Given the description of an element on the screen output the (x, y) to click on. 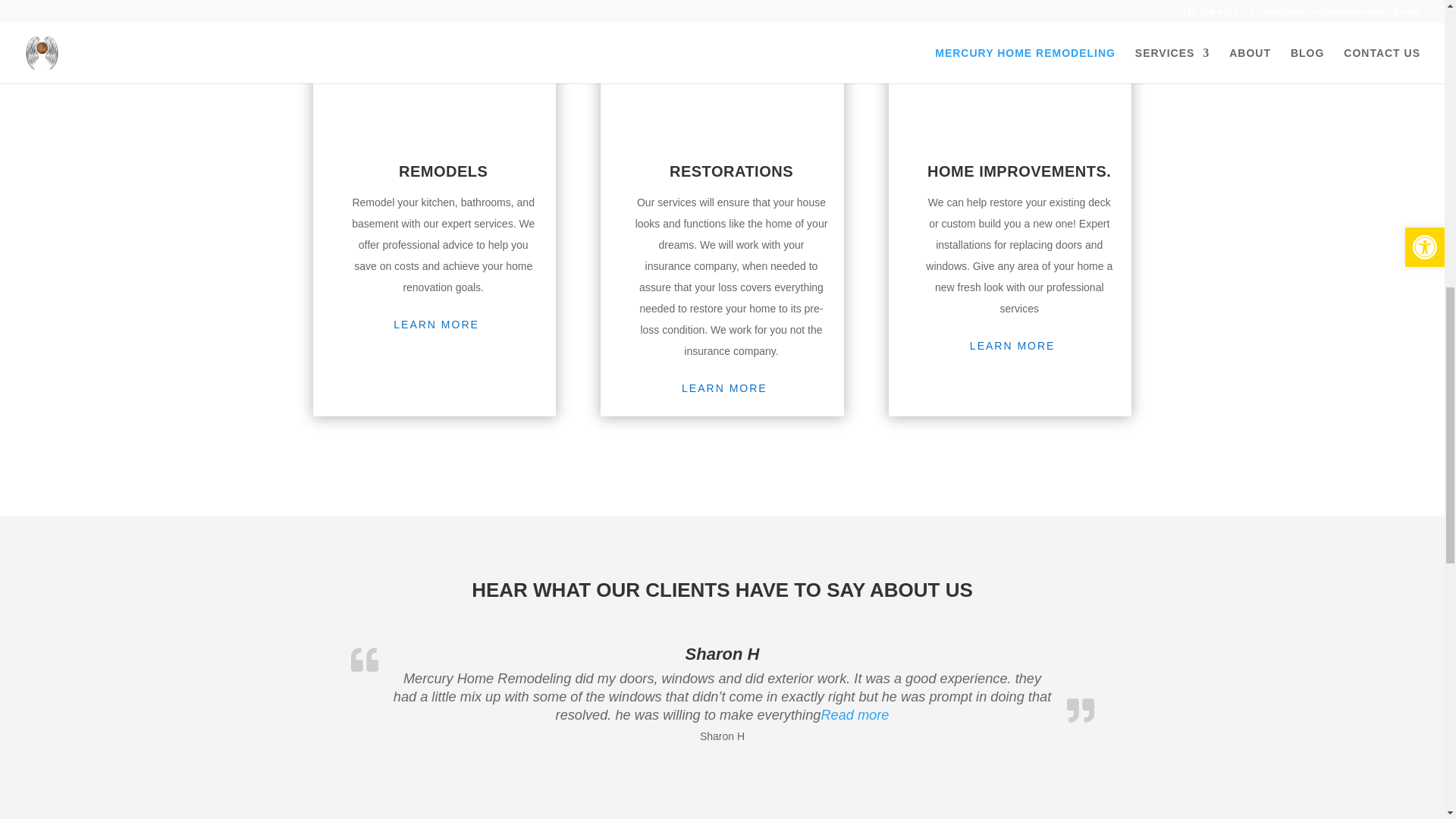
LEARN MORE (730, 388)
LEARN MORE (1018, 346)
LEARN MORE (443, 324)
